Given the description of an element on the screen output the (x, y) to click on. 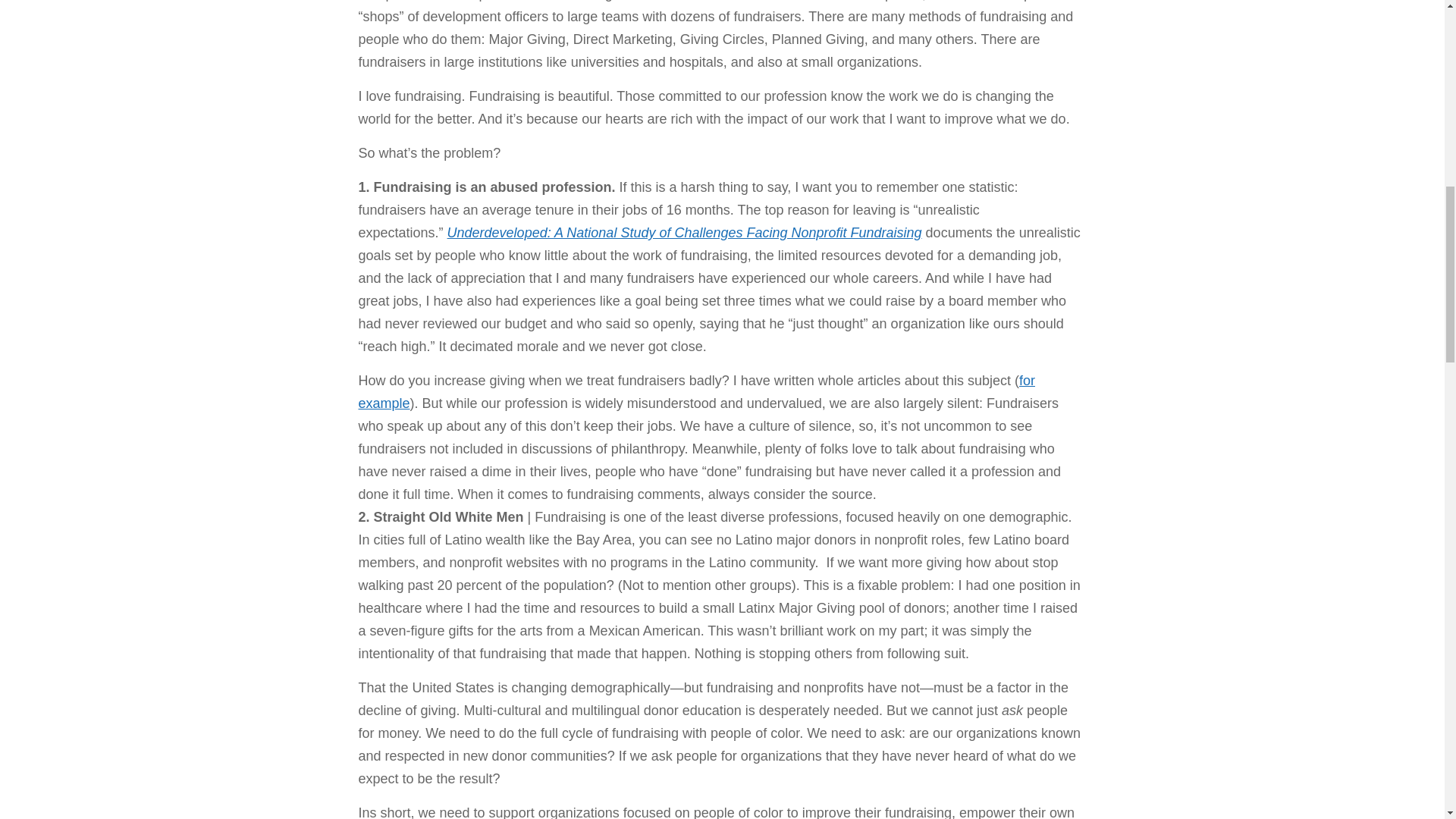
for example (695, 392)
